Given the description of an element on the screen output the (x, y) to click on. 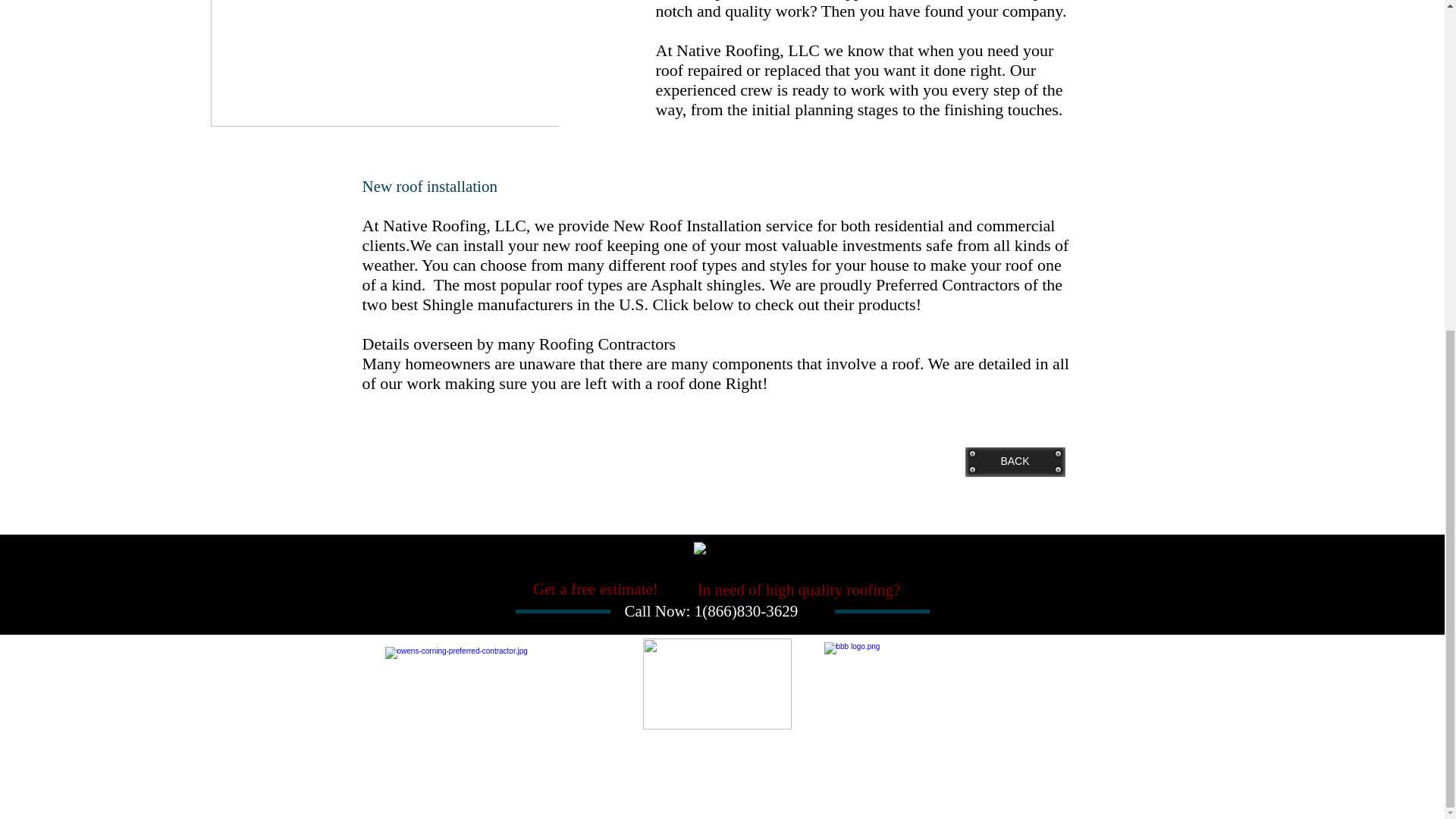
BACK (1013, 461)
haag.png (717, 683)
bbb.png (937, 683)
gaf.png (490, 688)
roofer1.jpg (453, 63)
